Given the description of an element on the screen output the (x, y) to click on. 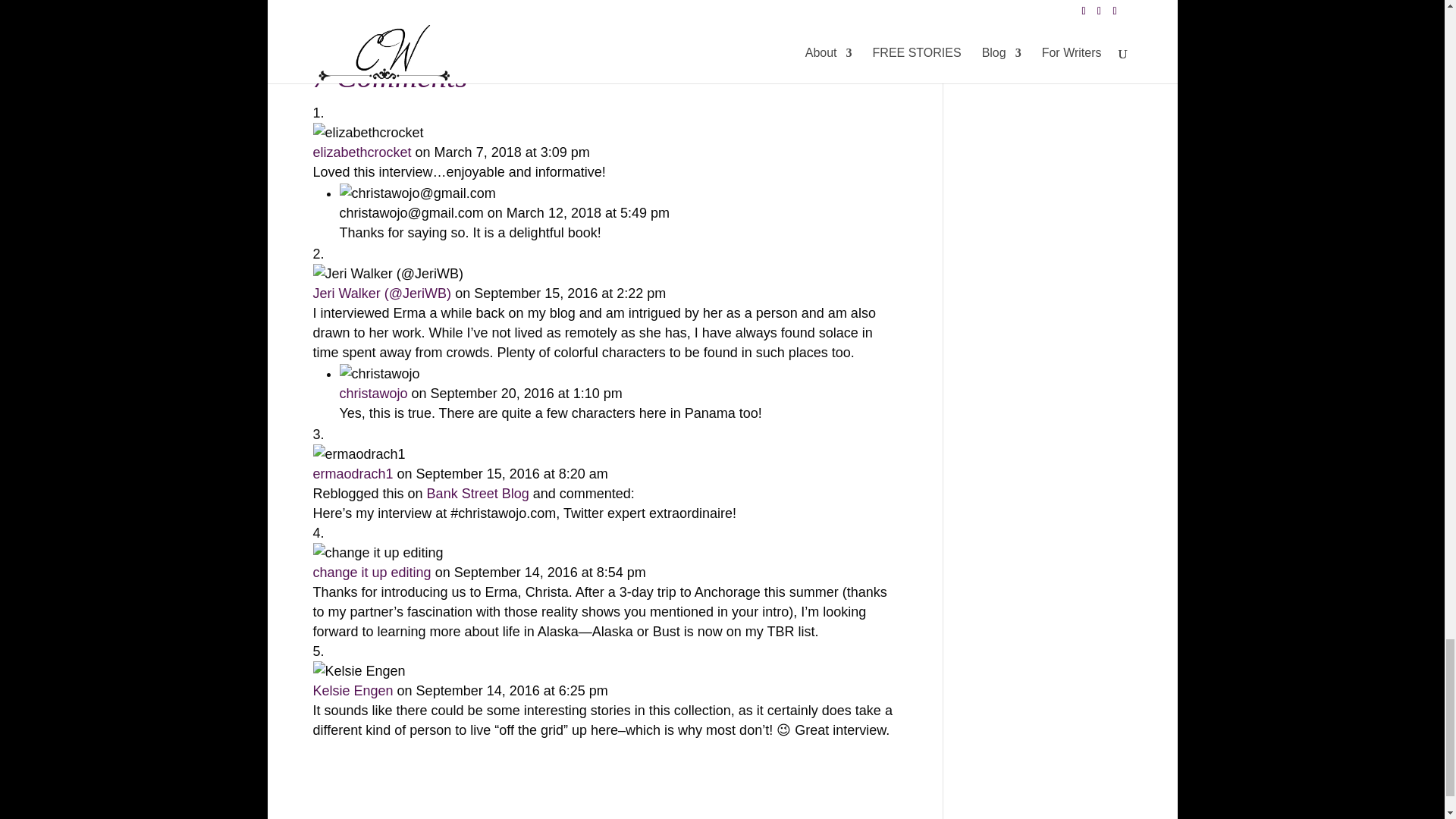
elizabethcrocket (361, 151)
